Given the description of an element on the screen output the (x, y) to click on. 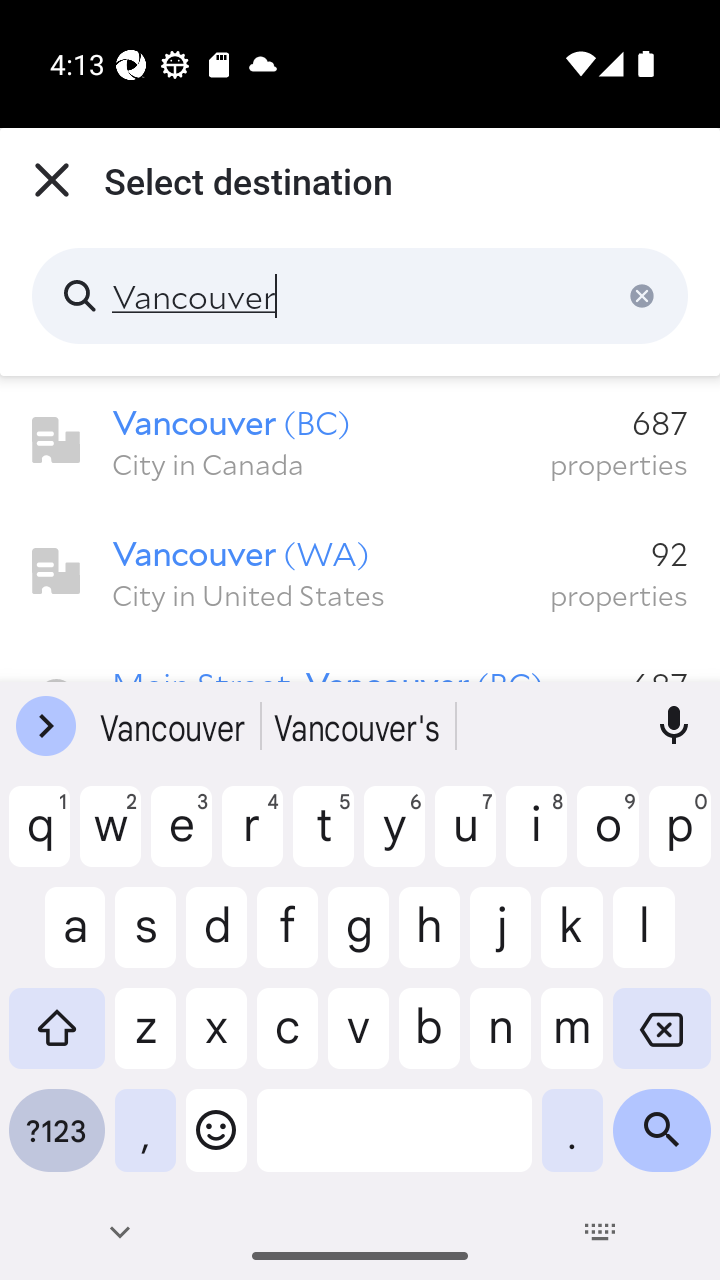
Vancouver (359, 296)
Vancouver (BC) 687 City in Canada properties (360, 441)
Vancouver (WA) 92 City in United States properties (360, 571)
